Given the description of an element on the screen output the (x, y) to click on. 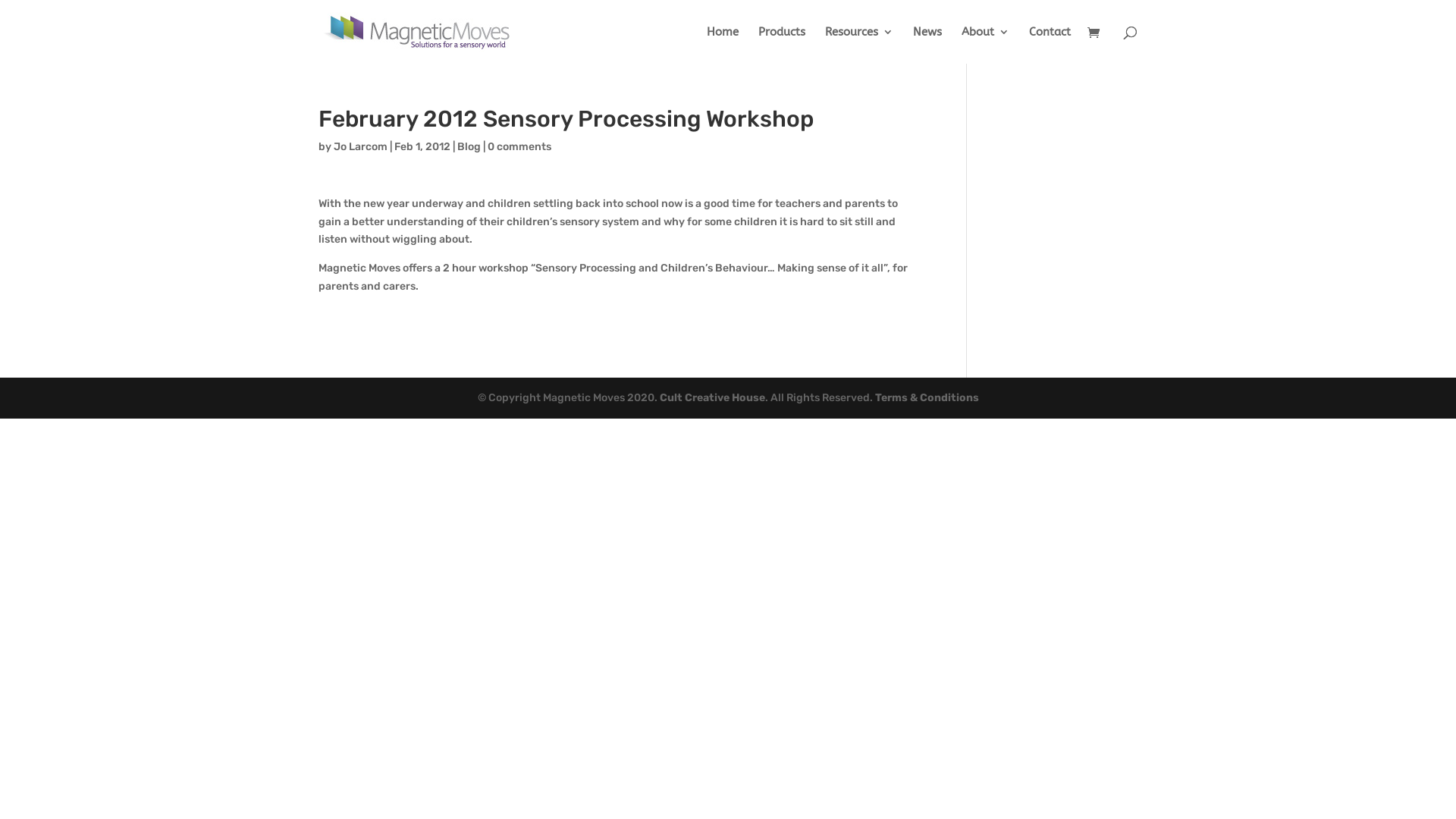
Cult Creative House Element type: text (712, 397)
Jo Larcom Element type: text (360, 146)
0 comments Element type: text (519, 146)
News Element type: text (927, 44)
Products Element type: text (781, 44)
Home Element type: text (722, 44)
Contact Element type: text (1049, 44)
Terms & Conditions Element type: text (927, 397)
Blog Element type: text (468, 146)
About Element type: text (985, 44)
Resources Element type: text (859, 44)
